Given the description of an element on the screen output the (x, y) to click on. 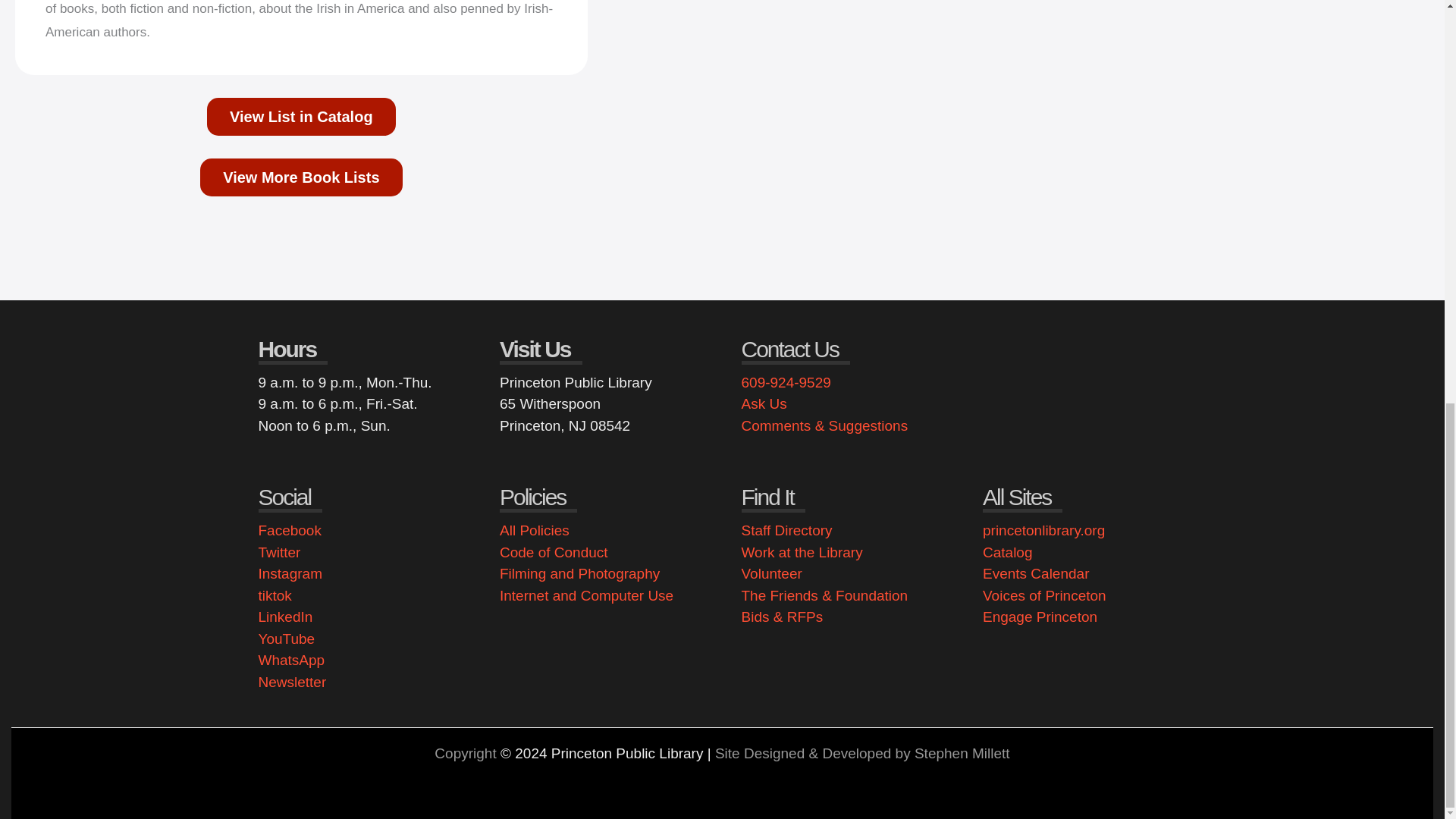
View List in Catalog (300, 177)
View List in Catalog (301, 116)
View List in Catalog (301, 116)
View More Book Lists (300, 177)
